Given the description of an element on the screen output the (x, y) to click on. 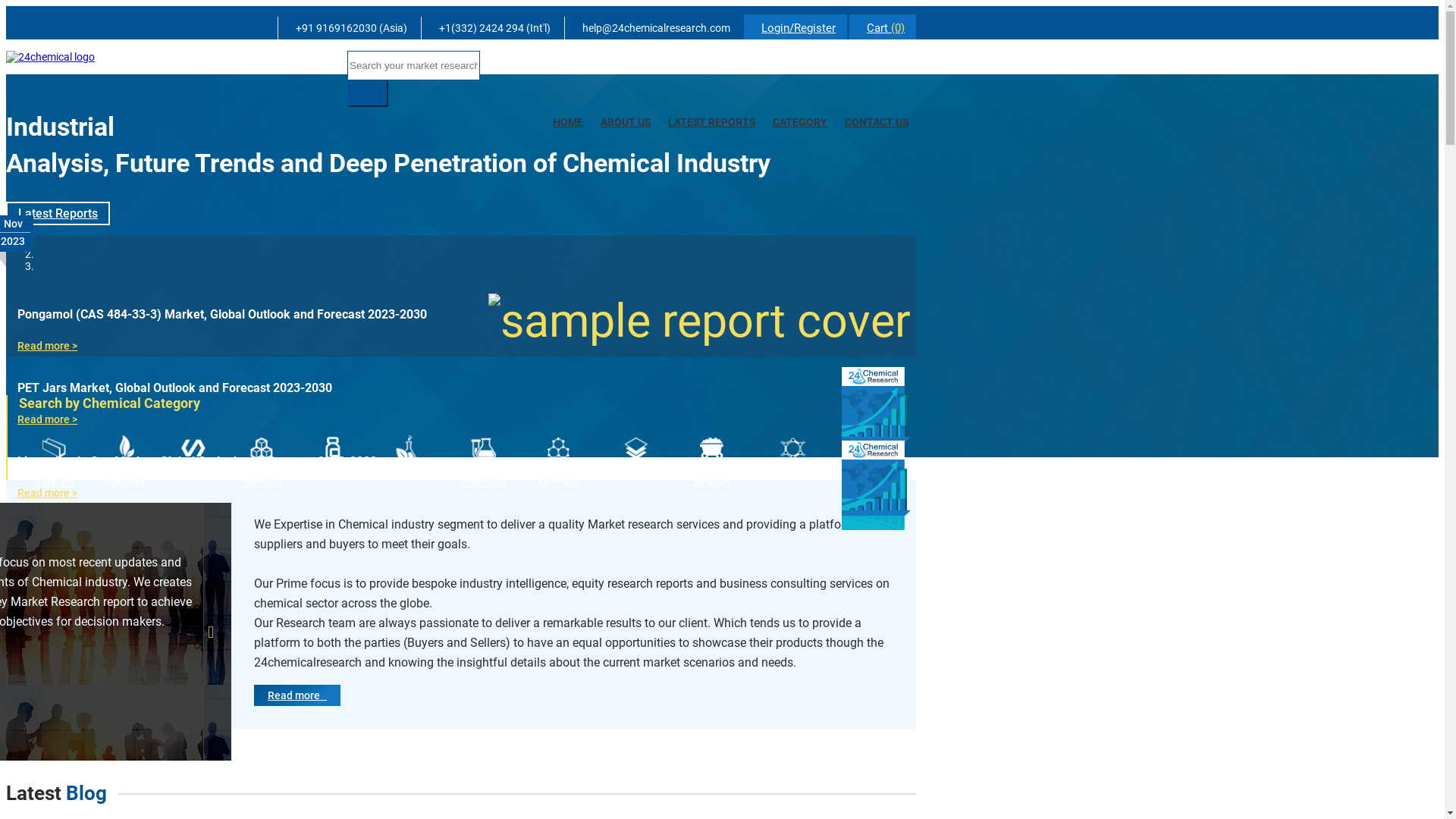
HOME Element type: text (567, 121)
LATEST REPORTS Element type: text (711, 121)
Nanomaterials Element type: text (793, 456)
Speciality Chemicals Element type: text (483, 461)
CONTACT US Element type: text (876, 121)
Login/Register Element type: text (795, 26)
Metallic materials Element type: text (54, 461)
ABOUT US Element type: text (625, 121)
Read more > Element type: text (47, 492)
Green Chemicals Element type: text (407, 456)
Composites Element type: text (636, 456)
Cart (0) Element type: text (882, 26)
24Chemical Research Element type: hover (50, 56)
Inorganic materials Element type: text (262, 461)
Latest Reports Element type: text (57, 213)
Read more > Element type: text (47, 345)
Bio-based Chemicals Element type: text (877, 461)
Organic materials Element type: text (125, 461)
Reagents Element type: text (334, 456)
CATEGORY Element type: text (799, 121)
Read more    Element type: text (297, 695)
Read more > Element type: text (47, 419)
Advanced Materials Element type: text (559, 461)
Polymer Element type: text (193, 456)
Metals and Minerals Element type: text (711, 461)
